Given the description of an element on the screen output the (x, y) to click on. 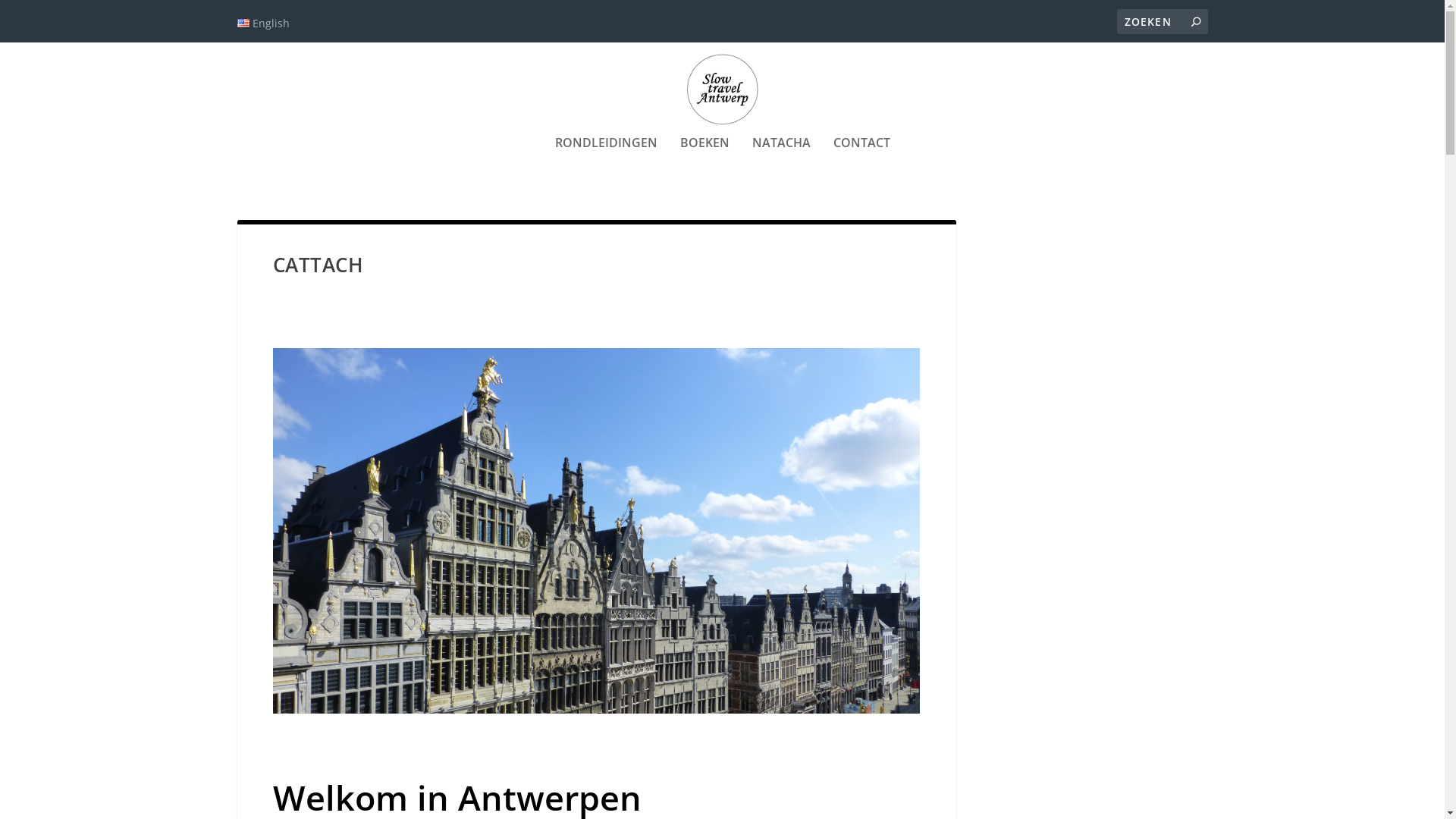
CONTACT Element type: text (860, 162)
Zoeken: Element type: hover (1161, 21)
English Element type: text (262, 23)
NATACHA Element type: text (781, 162)
RONDLEIDINGEN Element type: text (606, 162)
BOEKEN Element type: text (703, 162)
